Given the description of an element on the screen output the (x, y) to click on. 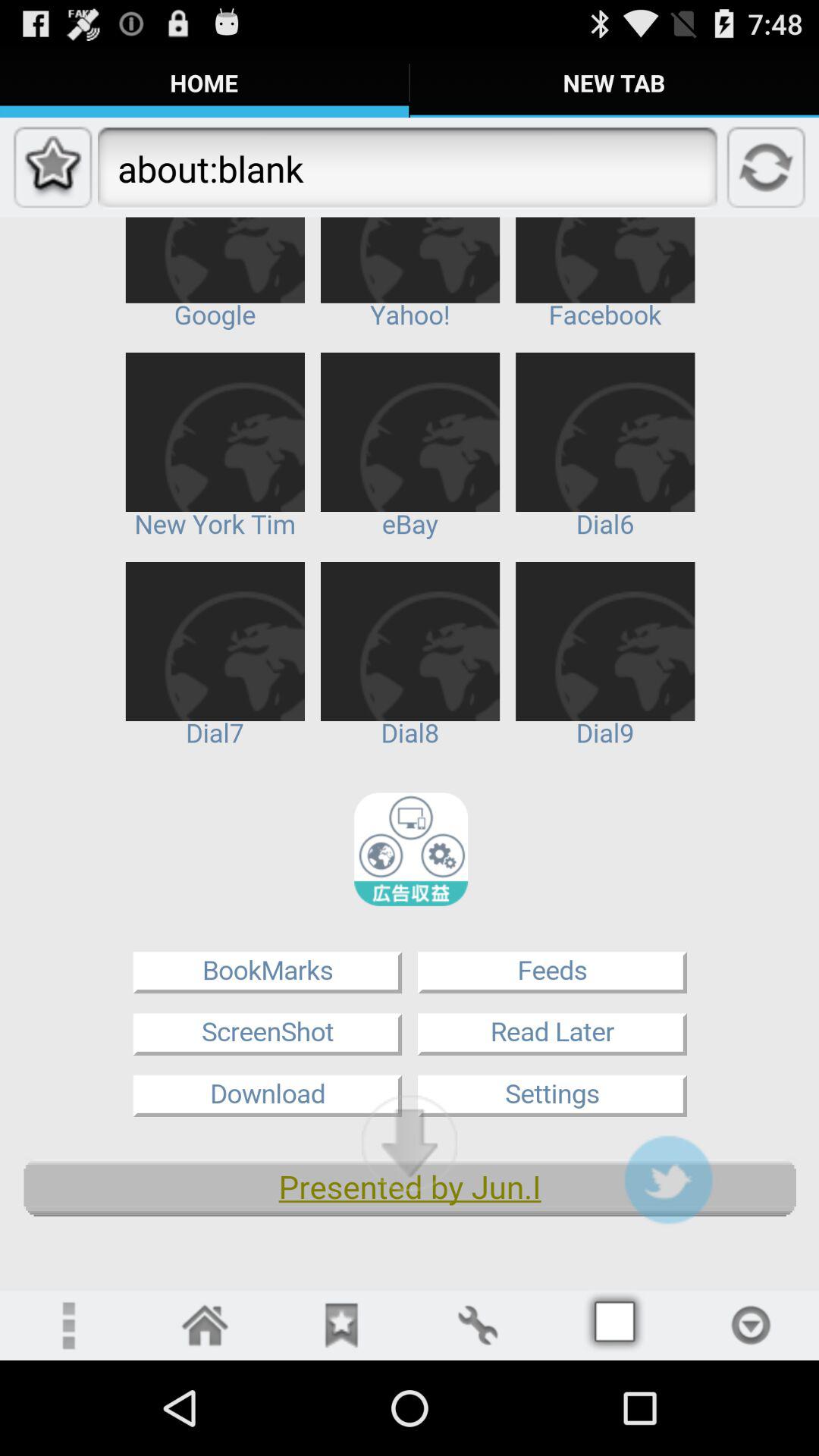
menu pega (614, 1325)
